Given the description of an element on the screen output the (x, y) to click on. 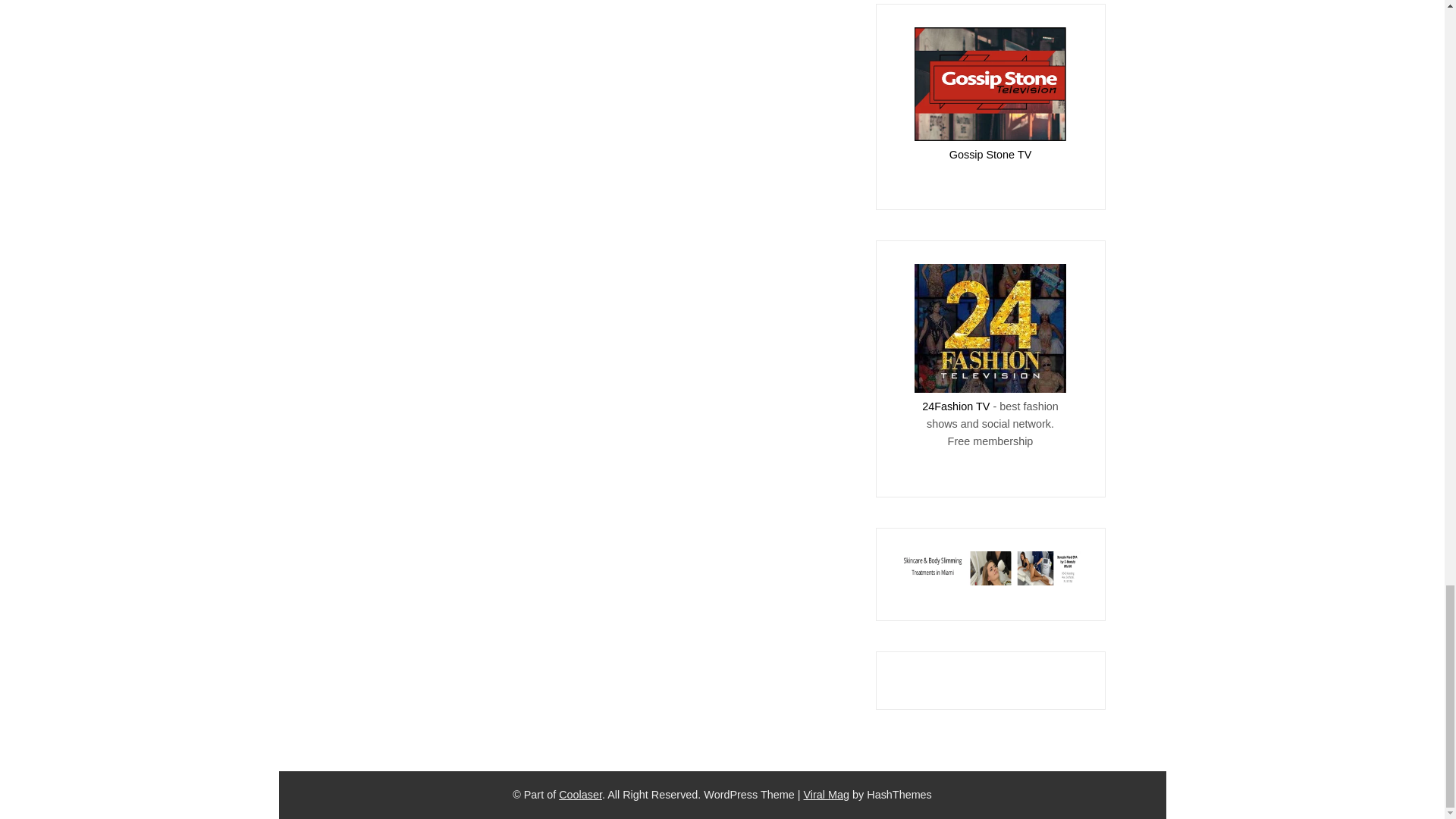
Download Viral News (826, 794)
